Given the description of an element on the screen output the (x, y) to click on. 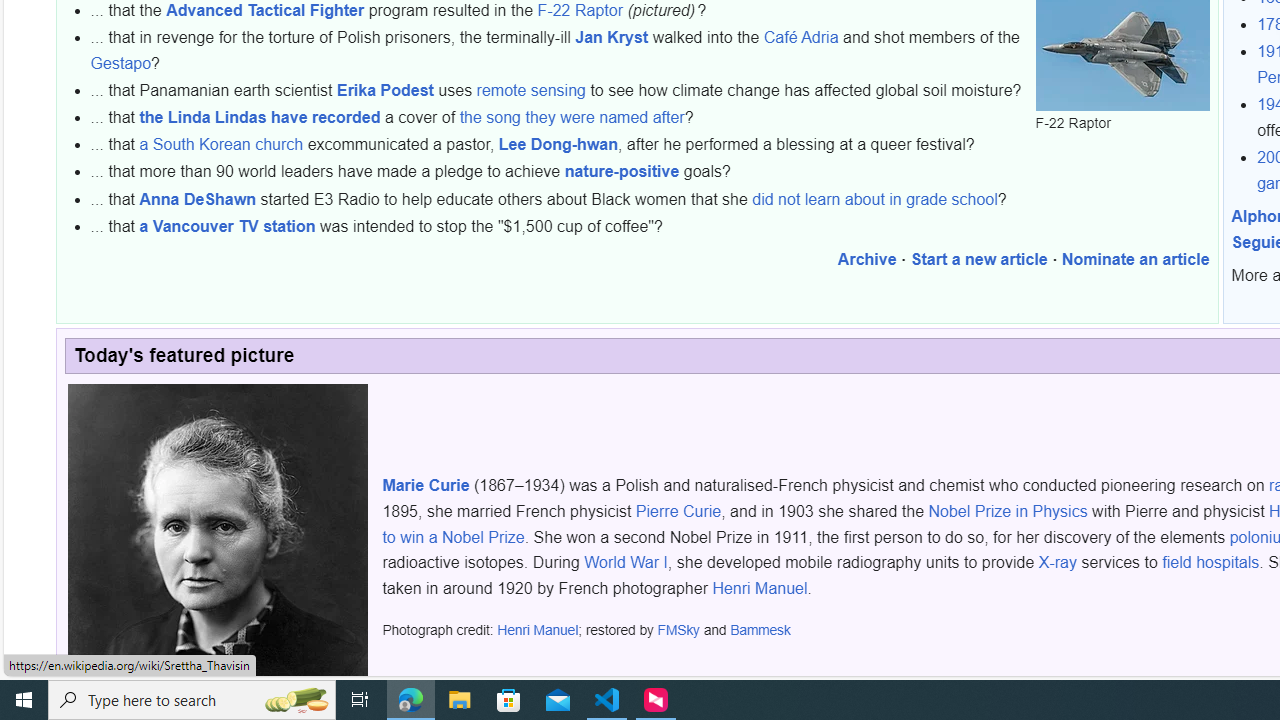
Jan Kryst (611, 37)
Bammesk (760, 630)
Nominate an article (1135, 260)
F-22 Raptor (580, 9)
Gestapo (120, 63)
field hospitals (1210, 562)
Nobel Prize in Physics (1008, 512)
Archive (867, 260)
Henri Manuel (537, 630)
a South Korean church (221, 145)
